Given the description of an element on the screen output the (x, y) to click on. 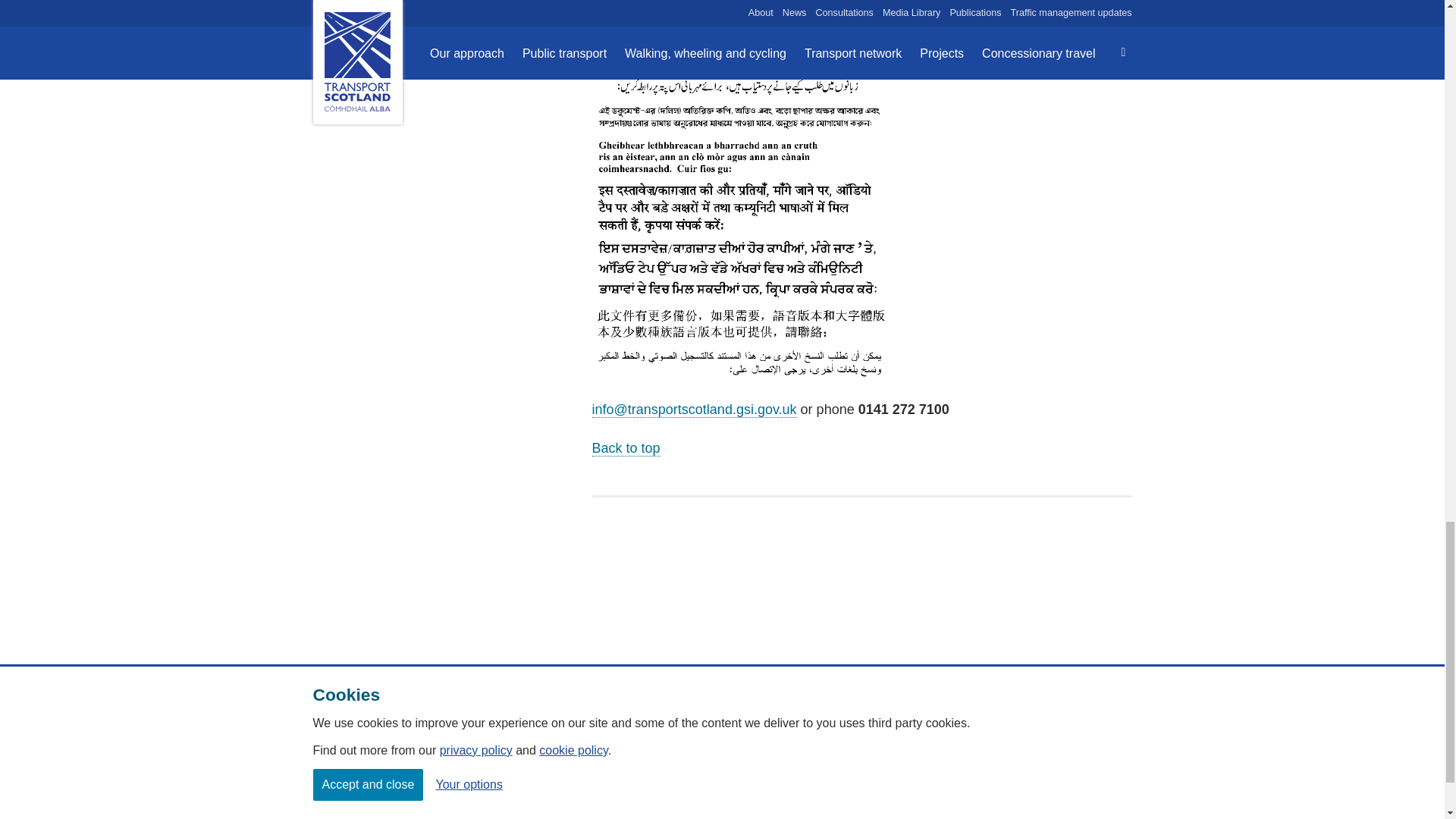
flickr (986, 744)
instagram (952, 744)
youtube (1086, 744)
facebook (1053, 744)
twitter (1019, 744)
linkedin (1120, 744)
Back to top (626, 448)
